Given the description of an element on the screen output the (x, y) to click on. 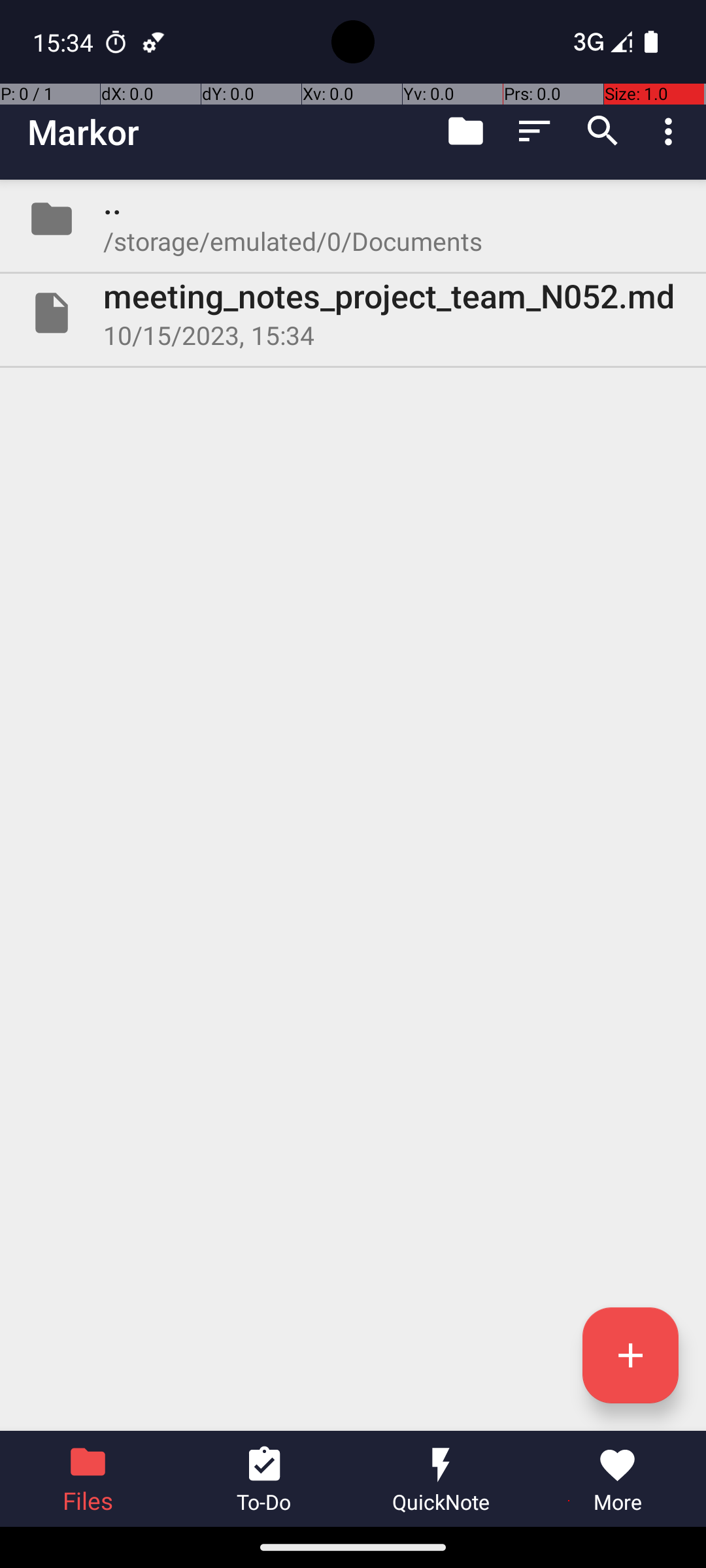
File meeting_notes_project_team_N052.md  Element type: android.widget.LinearLayout (353, 312)
